Given the description of an element on the screen output the (x, y) to click on. 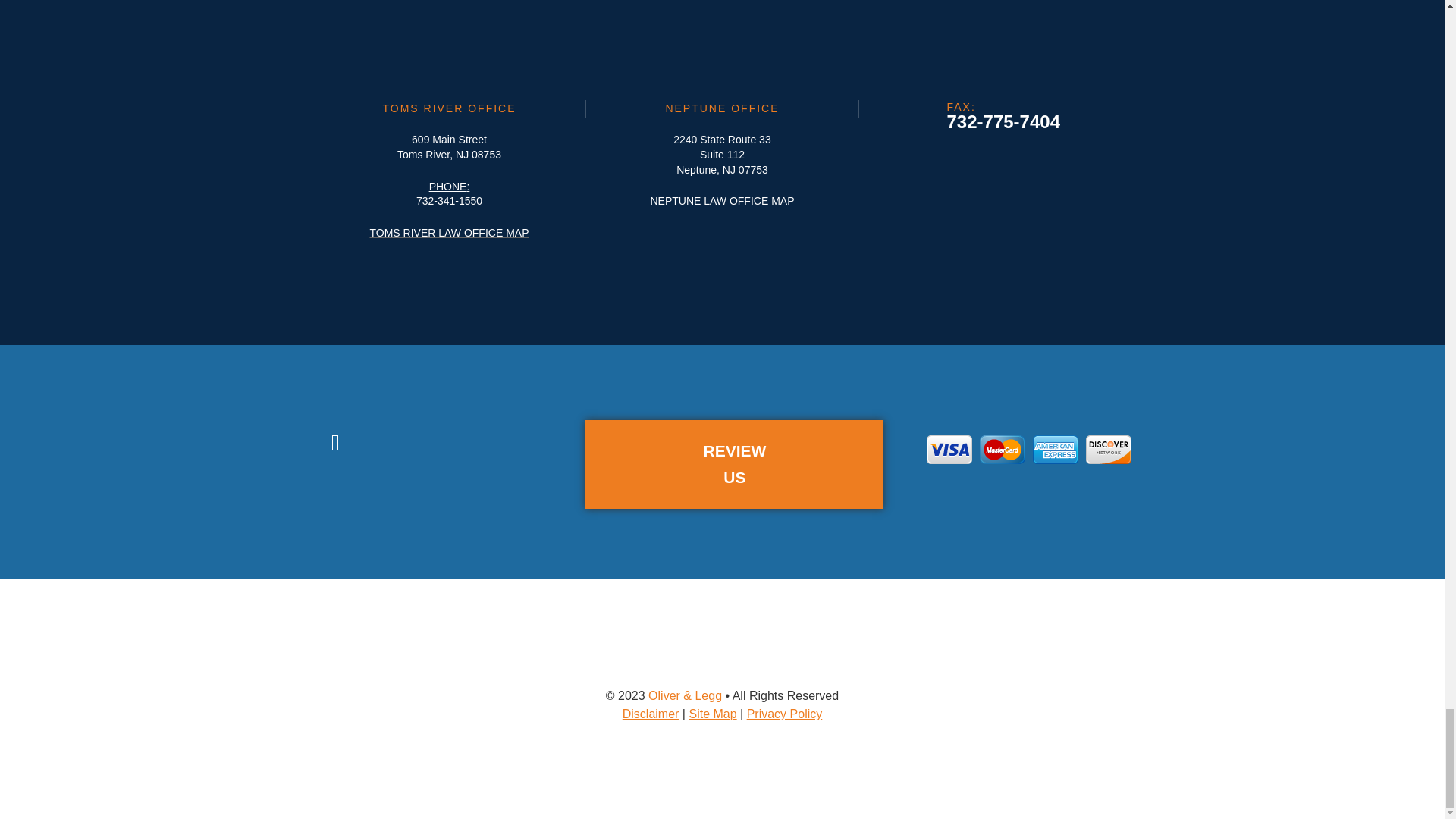
Follow on Facebook (335, 443)
